Given the description of an element on the screen output the (x, y) to click on. 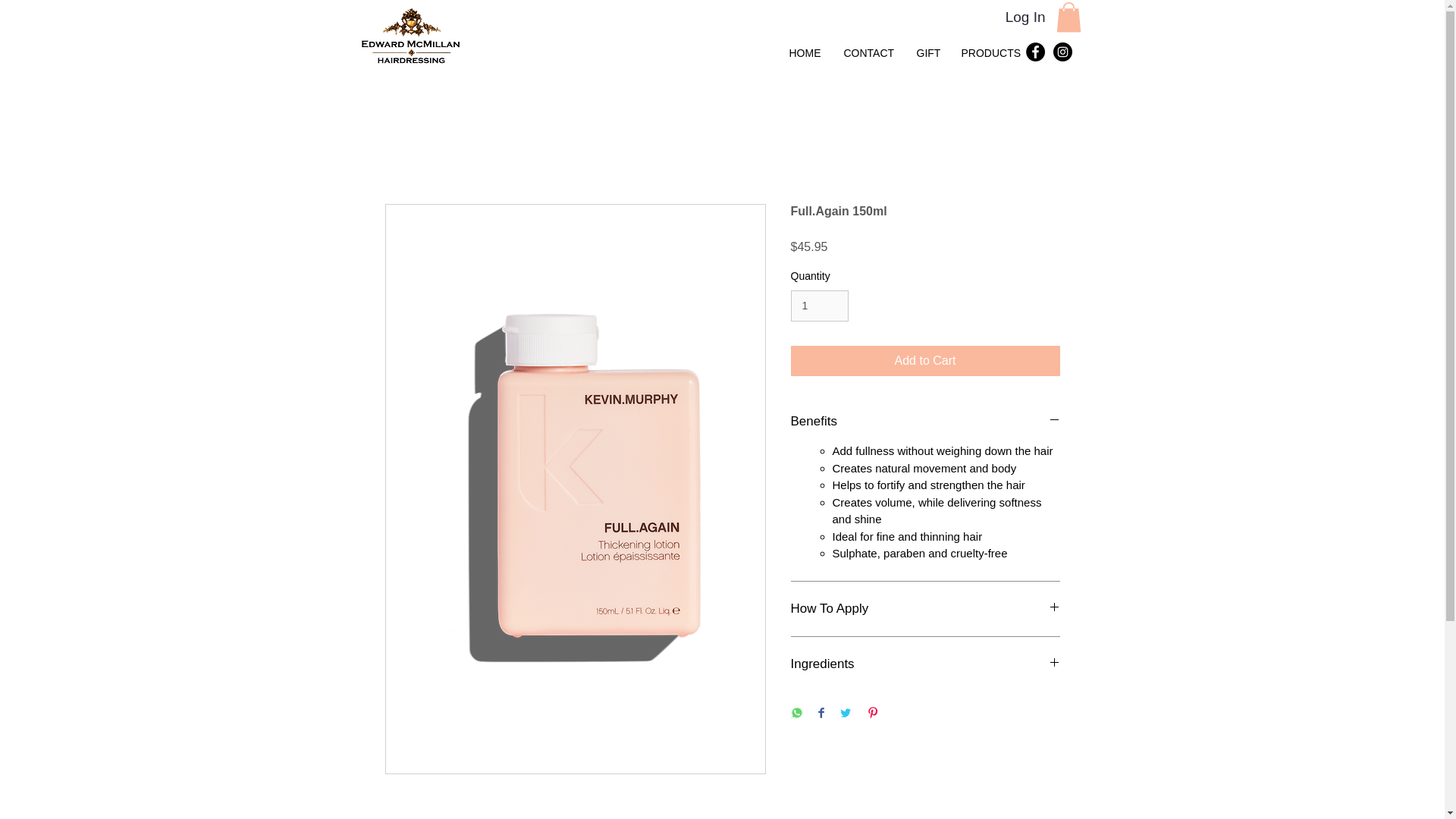
Add to Cart (924, 360)
HOME (803, 53)
PRODUCTS (988, 53)
1 (818, 305)
CONTACT (868, 53)
How To Apply (924, 608)
Benefits (924, 421)
Ingredients (924, 664)
GIFT (927, 53)
Log In (1025, 17)
